Given the description of an element on the screen output the (x, y) to click on. 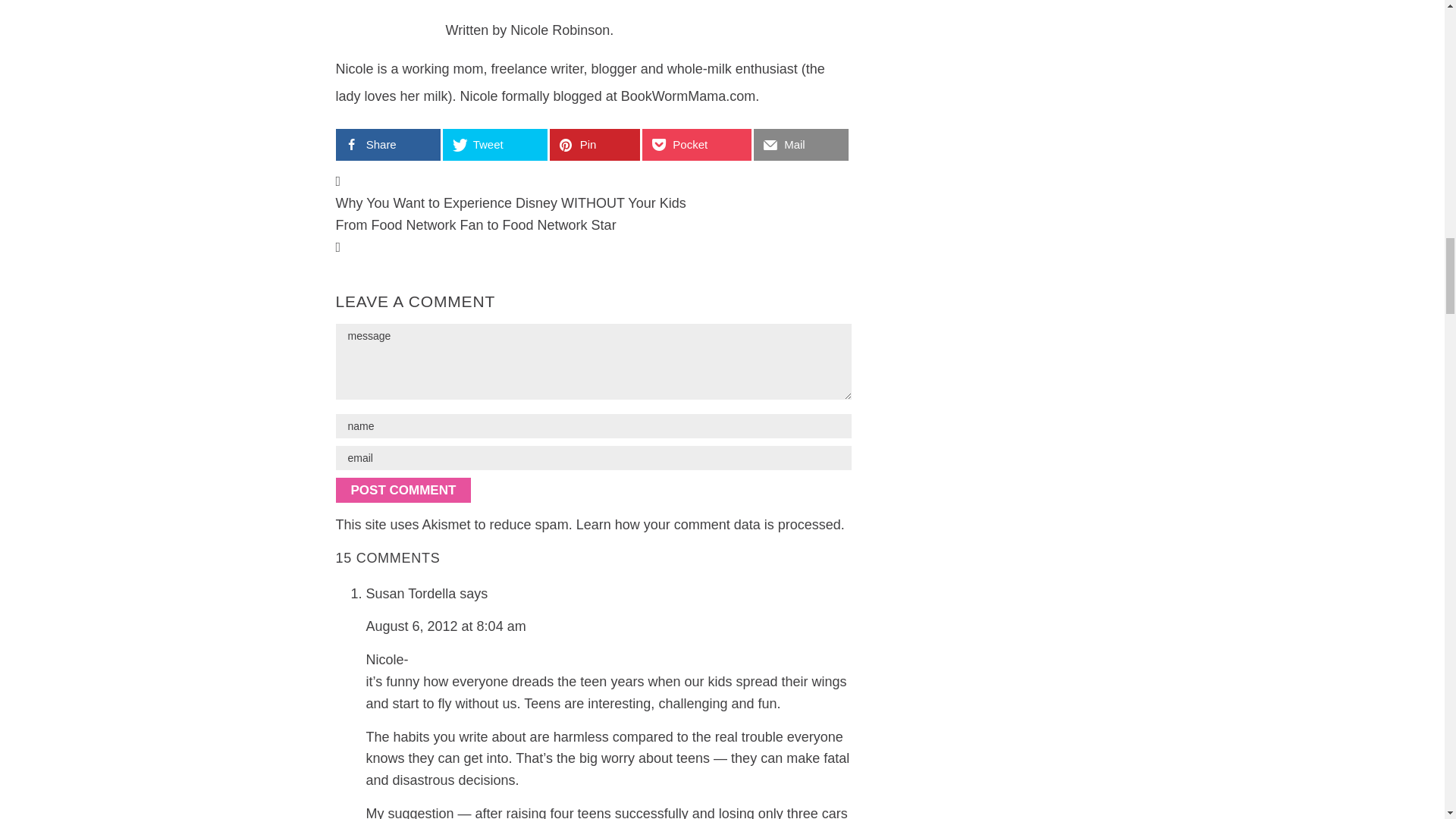
Post Comment (402, 489)
